Given the description of an element on the screen output the (x, y) to click on. 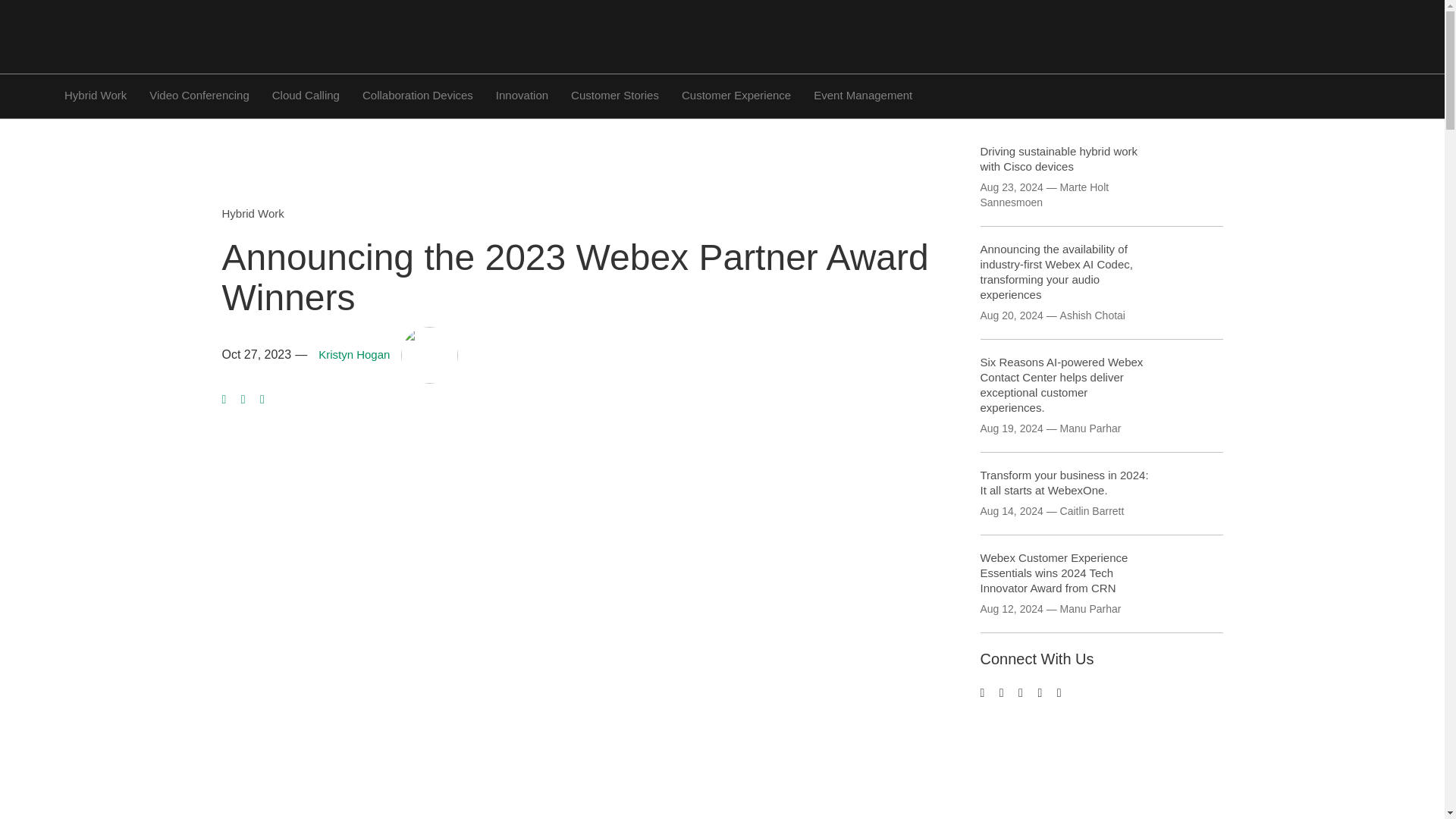
Awards (273, 818)
WebexOne (461, 818)
Event Management (862, 94)
Customer Experience (735, 94)
Kristyn Hogan (354, 354)
Collaboration Devices (417, 94)
Hybrid Work (252, 213)
Hybrid Work (95, 94)
